Given the description of an element on the screen output the (x, y) to click on. 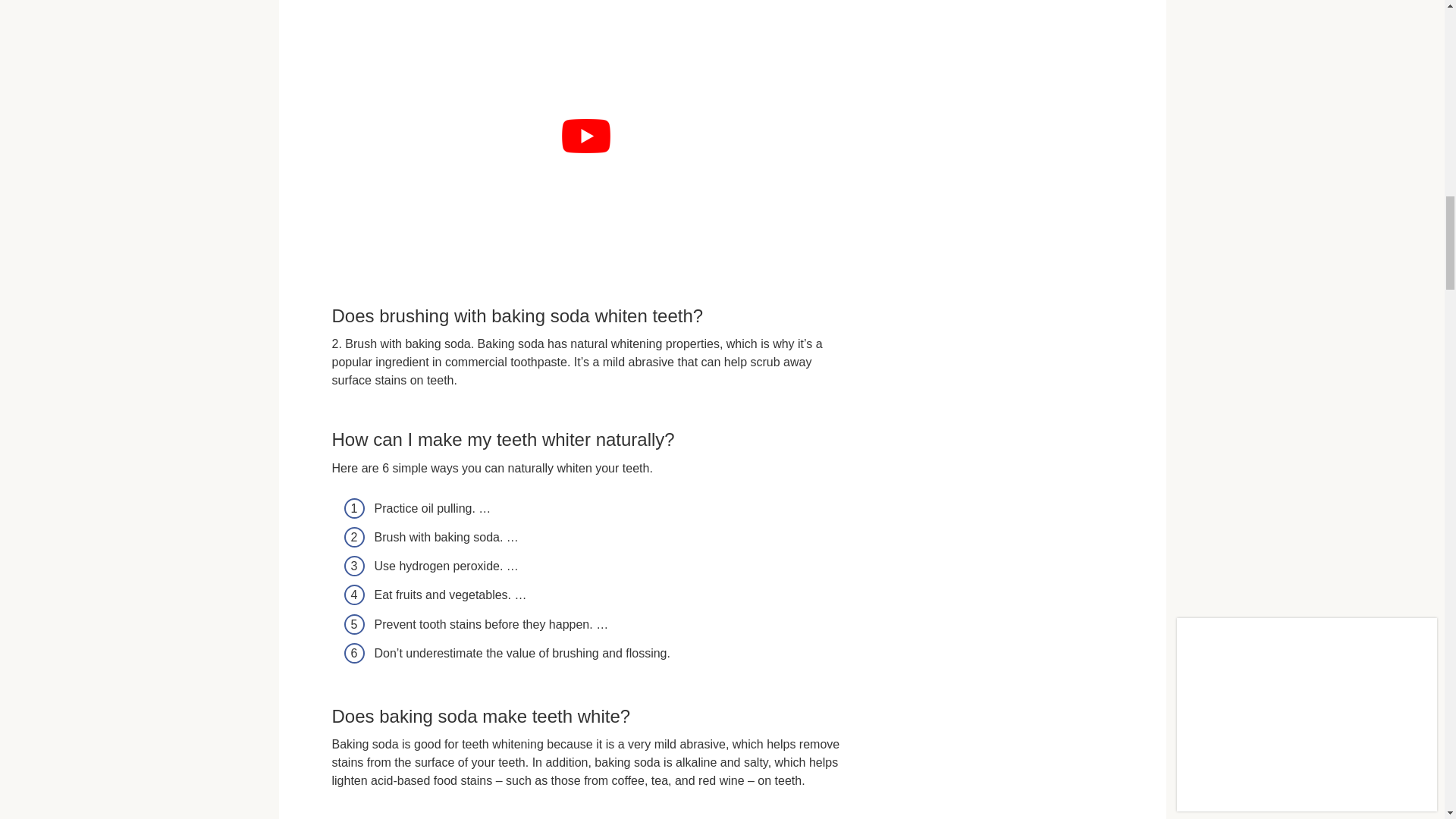
Advertisement (1021, 70)
Advertisement (1021, 263)
